Given the description of an element on the screen output the (x, y) to click on. 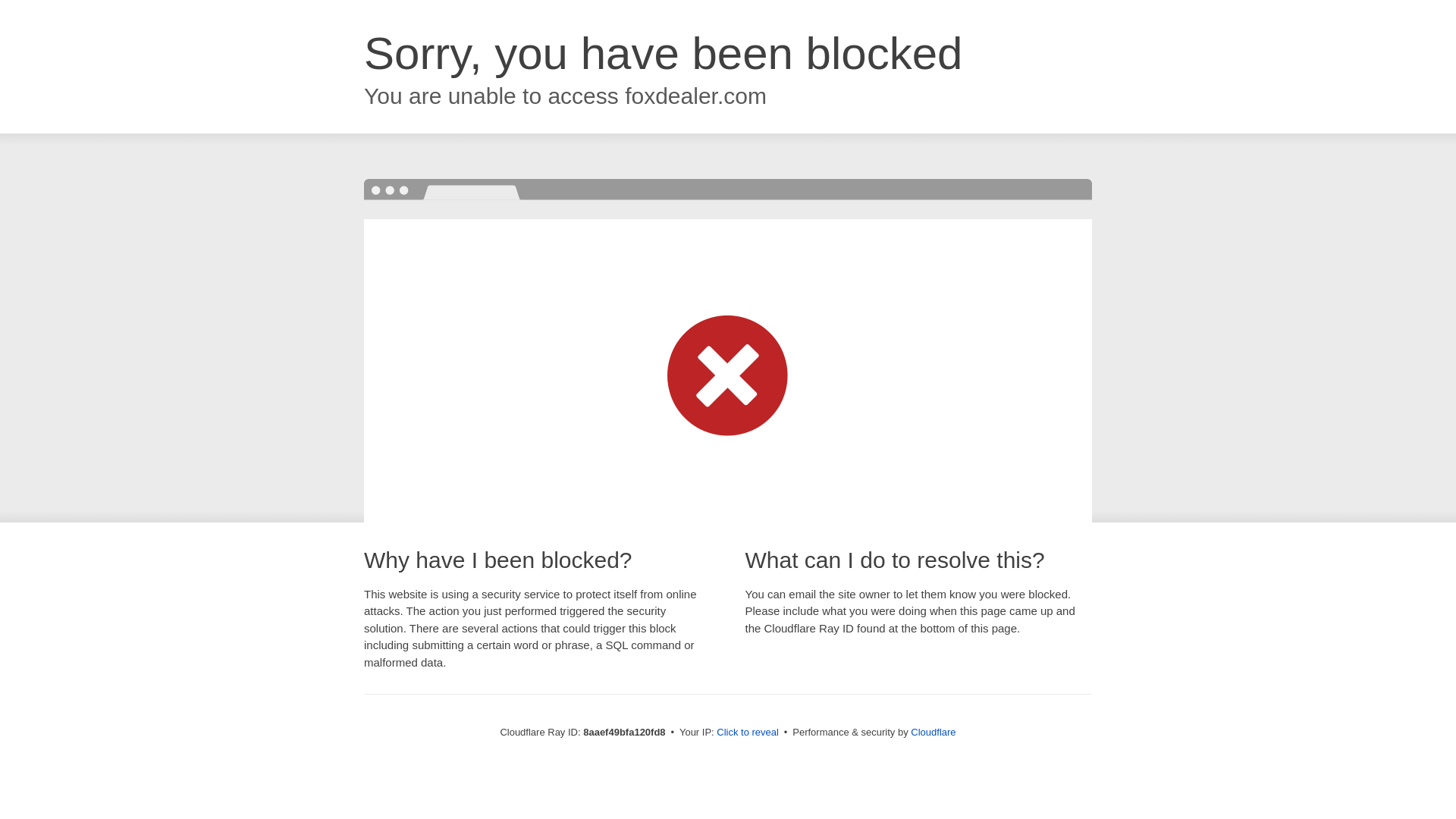
Click to reveal (747, 732)
Cloudflare (933, 731)
